Given the description of an element on the screen output the (x, y) to click on. 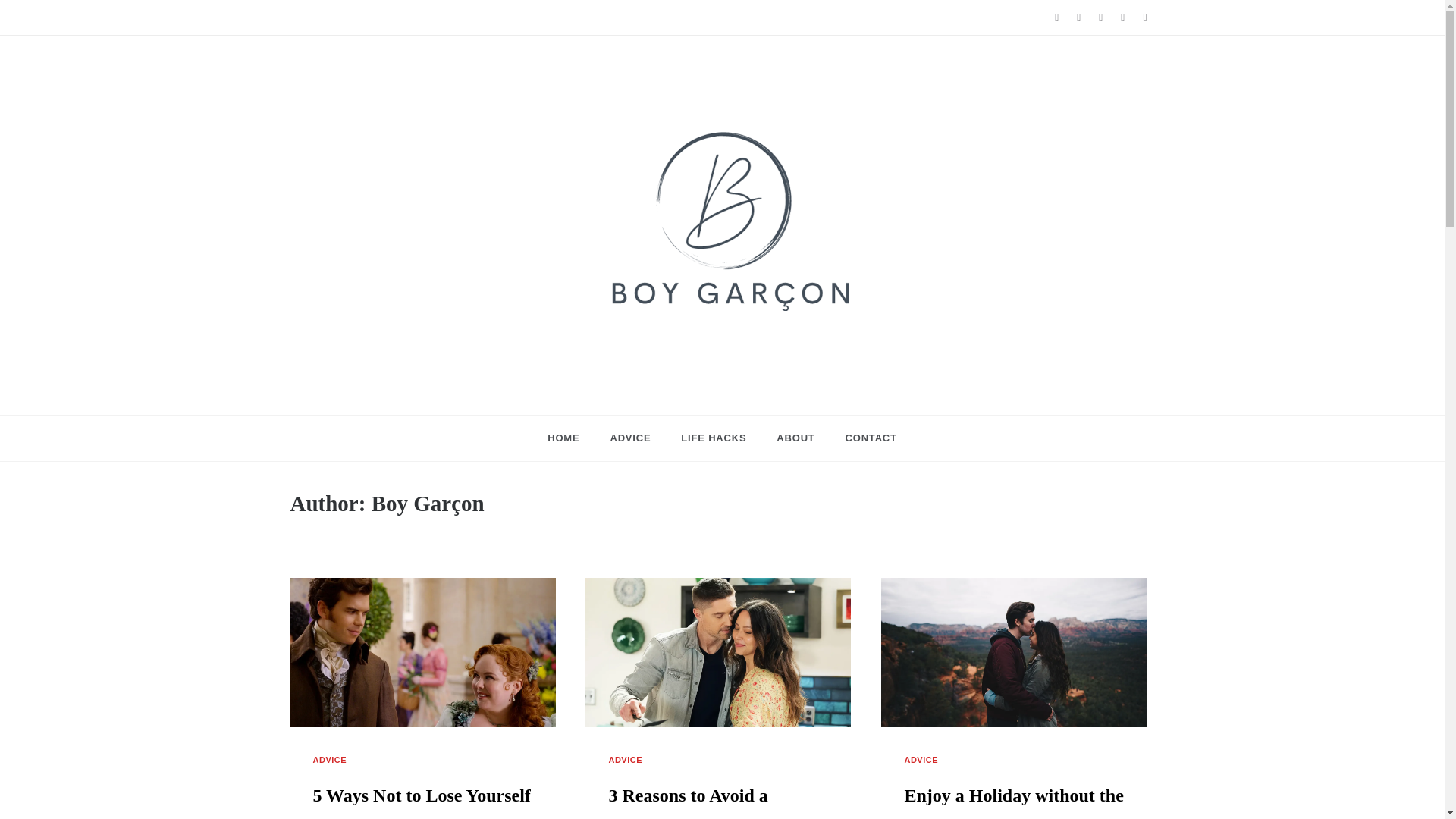
ADVICE (331, 759)
HOME (570, 438)
ABOUT (795, 438)
ADVICE (629, 438)
5 Ways Not to Lose Yourself to a Bridgerton Relationship (423, 802)
CONTACT (862, 438)
LIFE HACKS (713, 438)
